Given the description of an element on the screen output the (x, y) to click on. 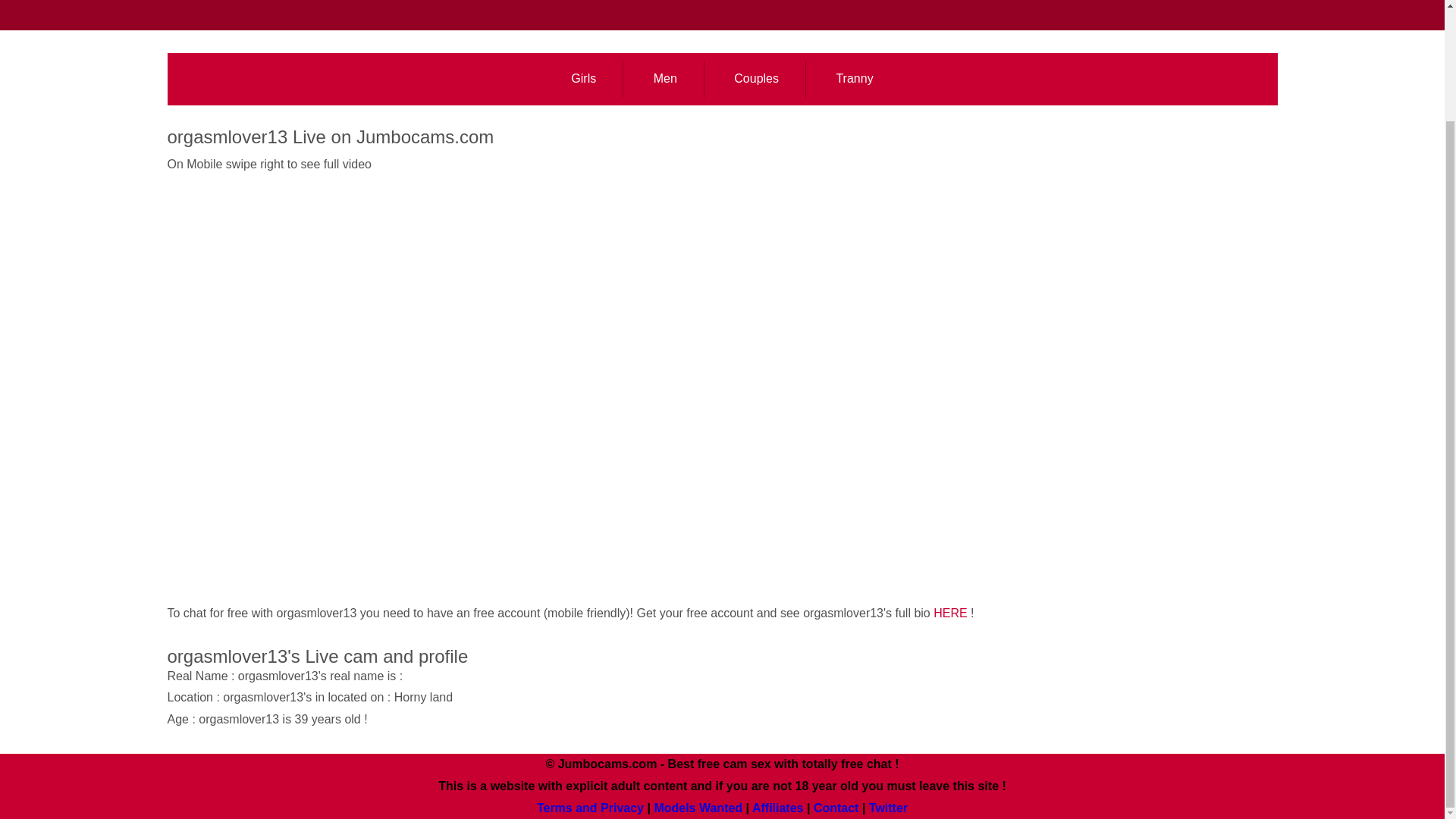
Tranny (853, 78)
Men (665, 78)
Affiliates (777, 807)
Contact (836, 807)
Models Wanted (697, 807)
Terms and Privacy (590, 807)
Couples (756, 78)
Twitter (888, 807)
Girls (583, 78)
HERE (949, 612)
